Given the description of an element on the screen output the (x, y) to click on. 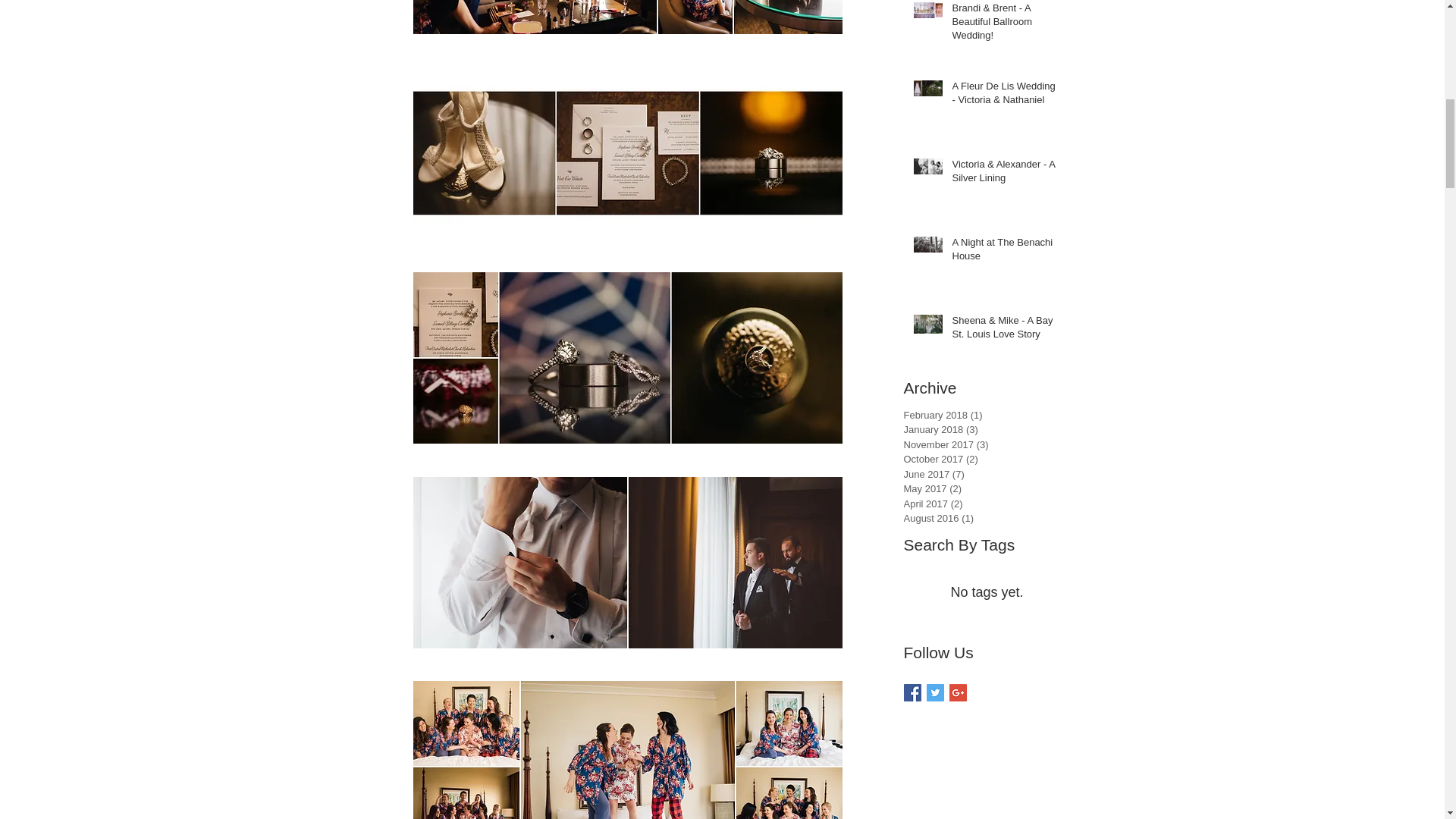
A Night at The Benachi House (1006, 252)
